Given the description of an element on the screen output the (x, y) to click on. 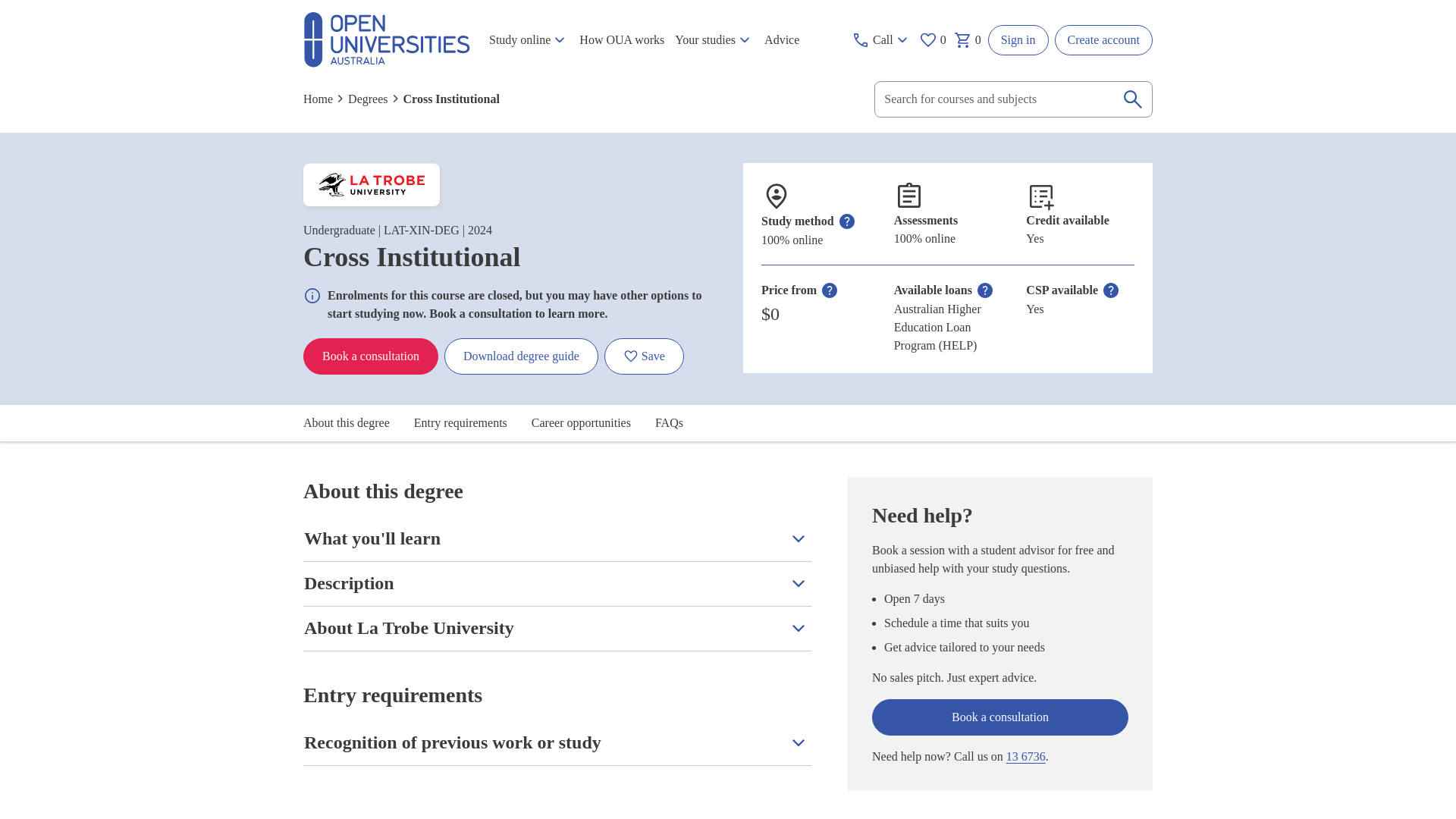
How OUA works (621, 40)
Your studies (714, 40)
Study online (528, 40)
